Given the description of an element on the screen output the (x, y) to click on. 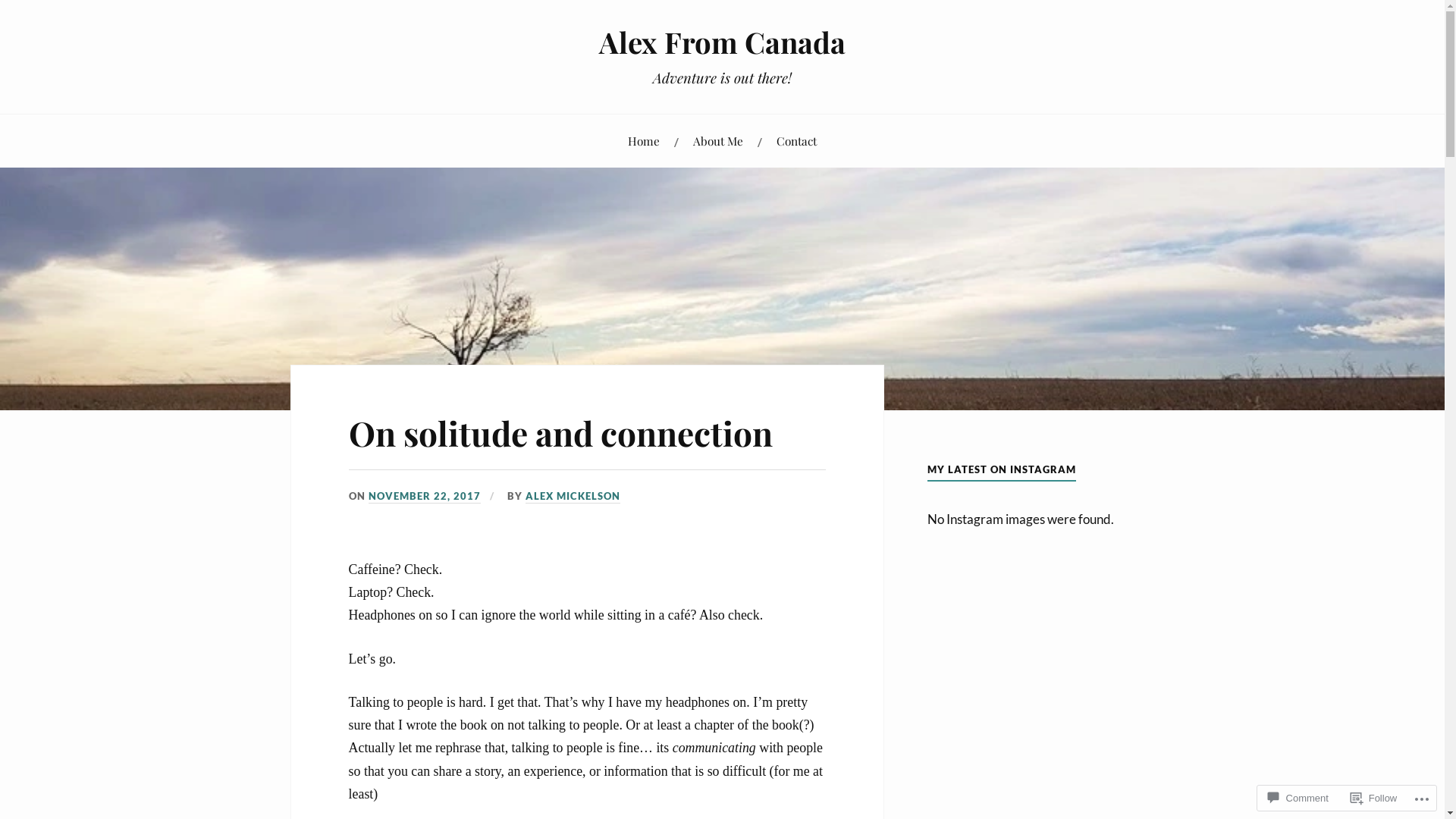
ALEX MICKELSON Element type: text (572, 496)
Home Element type: text (643, 140)
About Me Element type: text (718, 140)
Comment Element type: text (1297, 797)
Alex From Canada Element type: text (722, 41)
Contact Element type: text (796, 140)
Follow Element type: text (1373, 797)
NOVEMBER 22, 2017 Element type: text (424, 496)
